Given the description of an element on the screen output the (x, y) to click on. 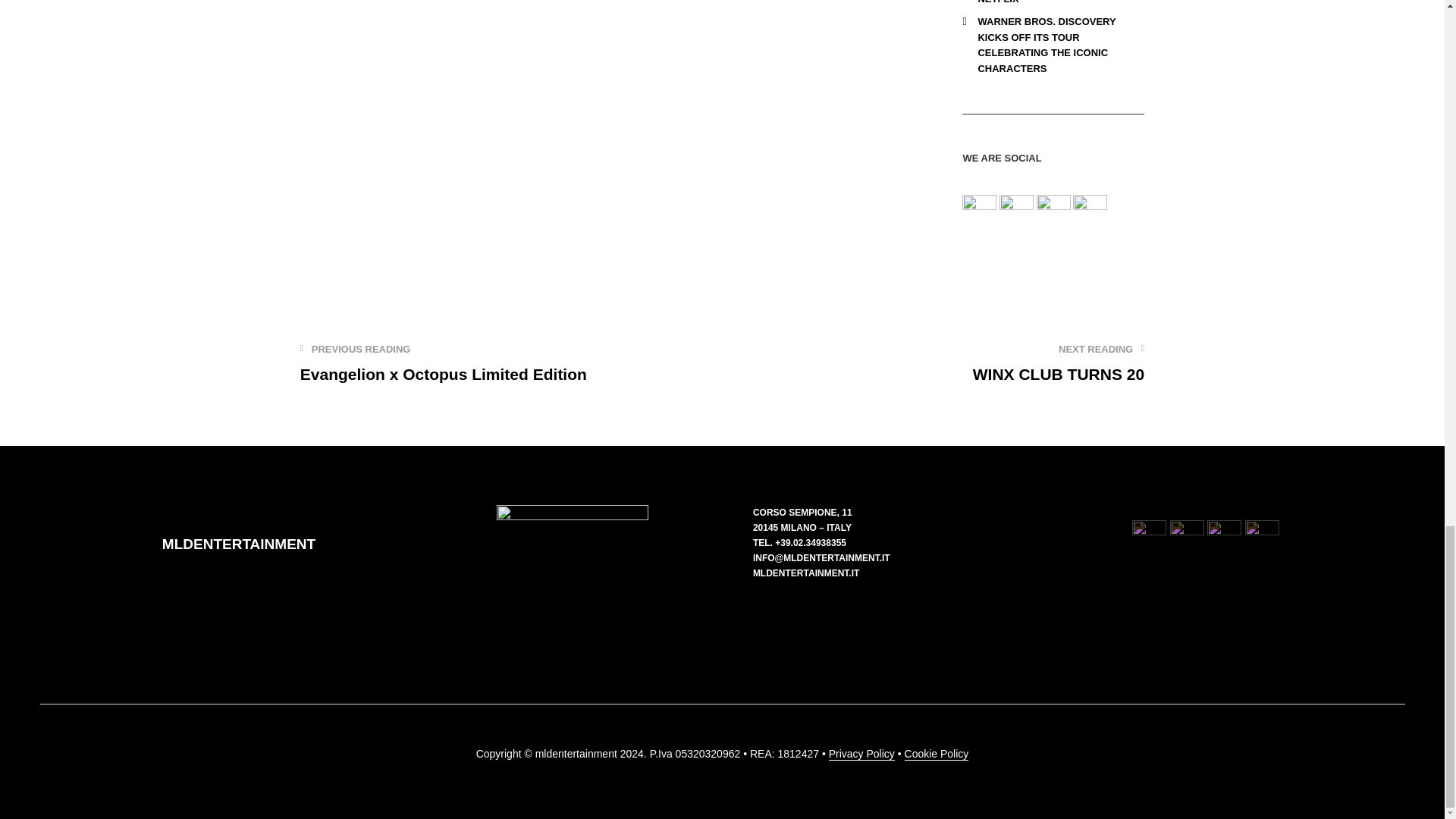
MERMAID MAGIC TO DEBUT ON NETFLIX (1053, 2)
